Given the description of an element on the screen output the (x, y) to click on. 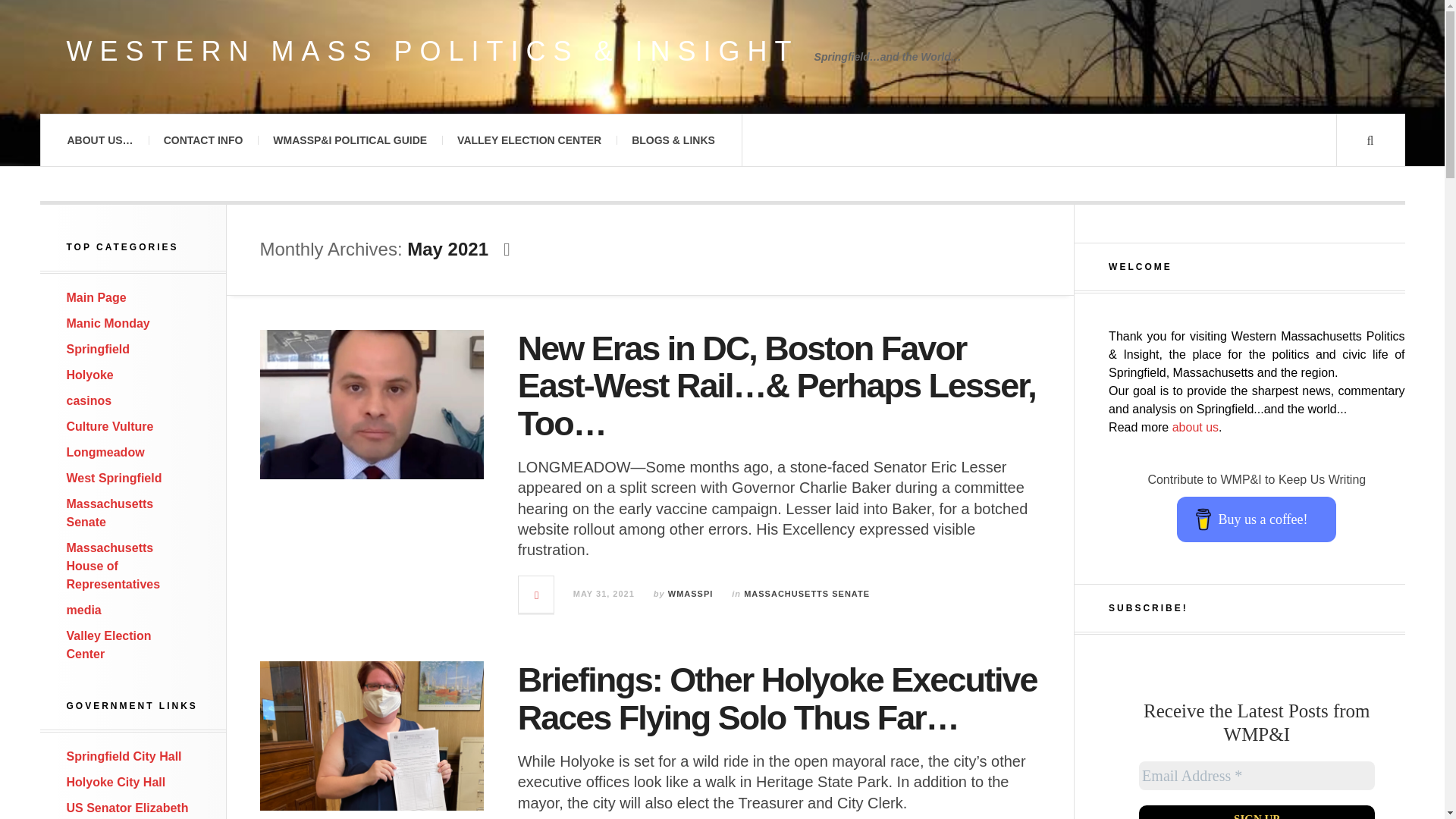
Massachusetts House of Representatives (113, 565)
View all posts in Massachusetts Senate (806, 593)
Read More... (536, 594)
casinos (89, 400)
West Springfield (113, 477)
US Senator Elizabeth Warren (127, 810)
CONTACT INFO (203, 140)
Holyoke City Hall (115, 781)
Go Home (96, 297)
Main Page (96, 297)
